Given the description of an element on the screen output the (x, y) to click on. 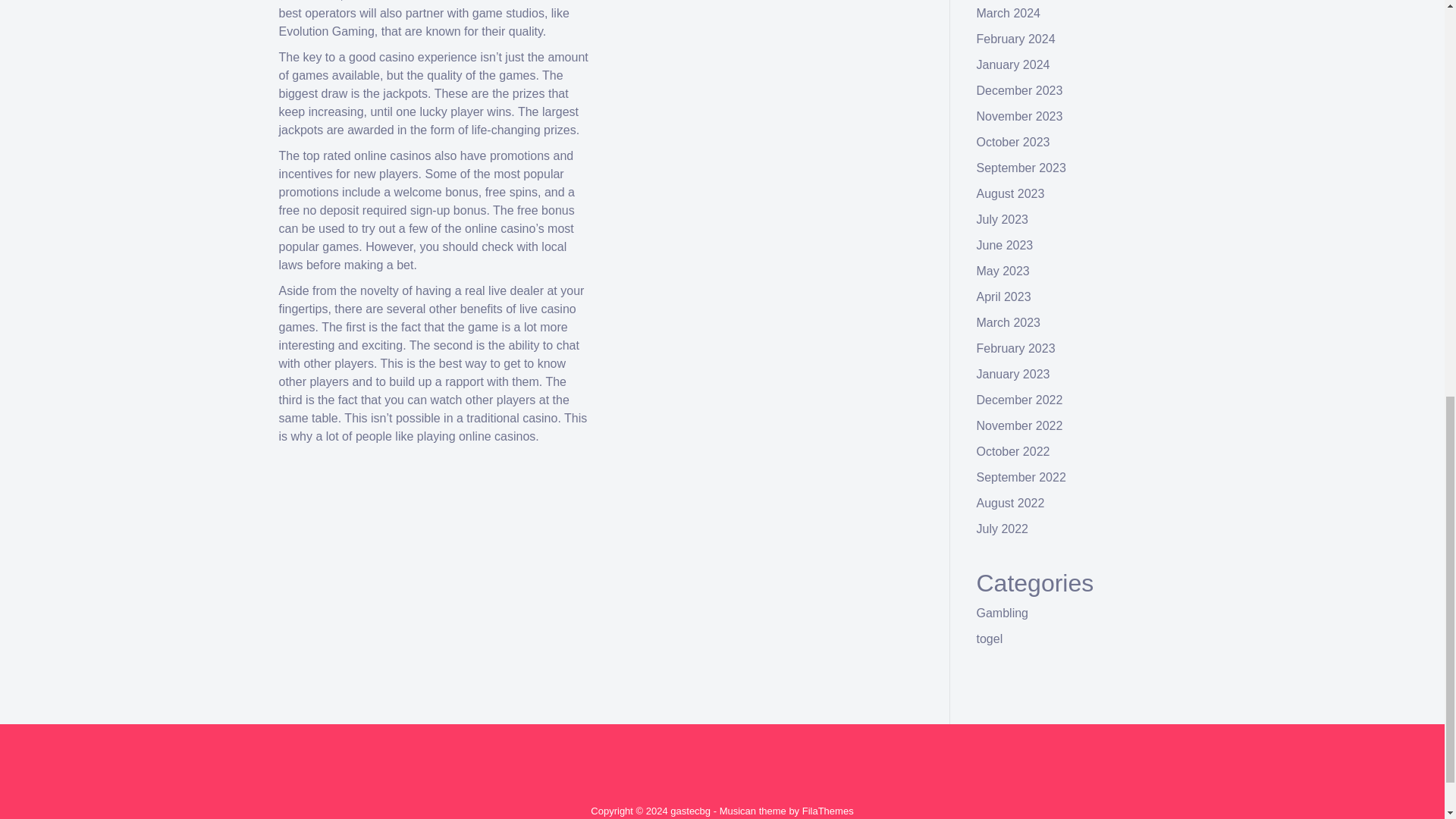
February 2023 (1015, 348)
January 2023 (1012, 373)
November 2022 (1019, 425)
December 2023 (1019, 90)
November 2023 (1019, 115)
October 2022 (1012, 451)
February 2024 (1015, 38)
June 2023 (1004, 245)
August 2023 (1010, 193)
May 2023 (1002, 270)
